Given the description of an element on the screen output the (x, y) to click on. 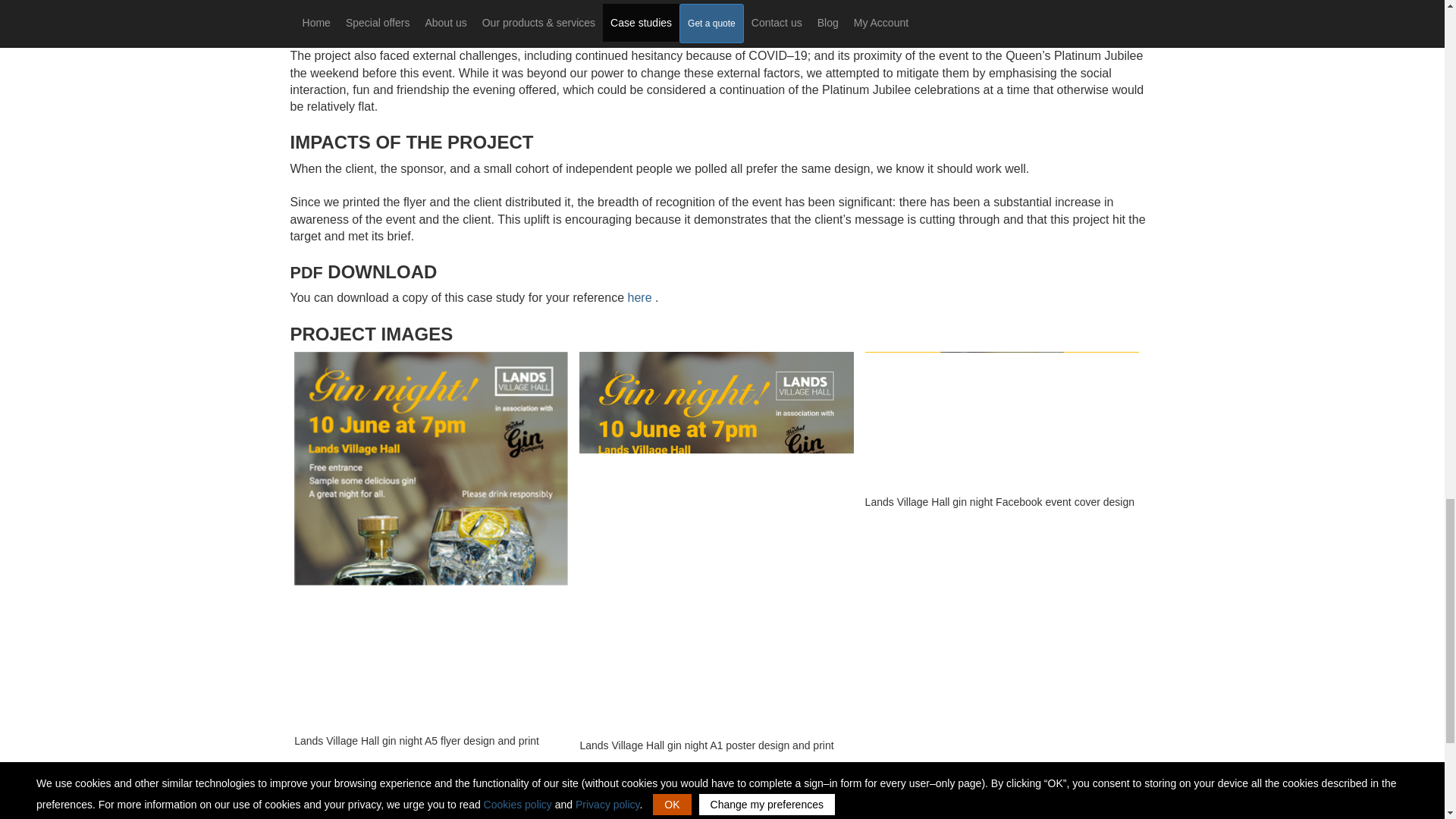
WEB DEVELOPMENT (337, 814)
Maintenance (631, 814)
View this image in a new tab (716, 544)
PROJECTS (913, 814)
View this image in a new tab (1001, 422)
Digital strategy (765, 814)
View this image in a new tab (430, 541)
Web development (337, 814)
MAINTENANCE (631, 814)
Print (1043, 814)
